Given the description of an element on the screen output the (x, y) to click on. 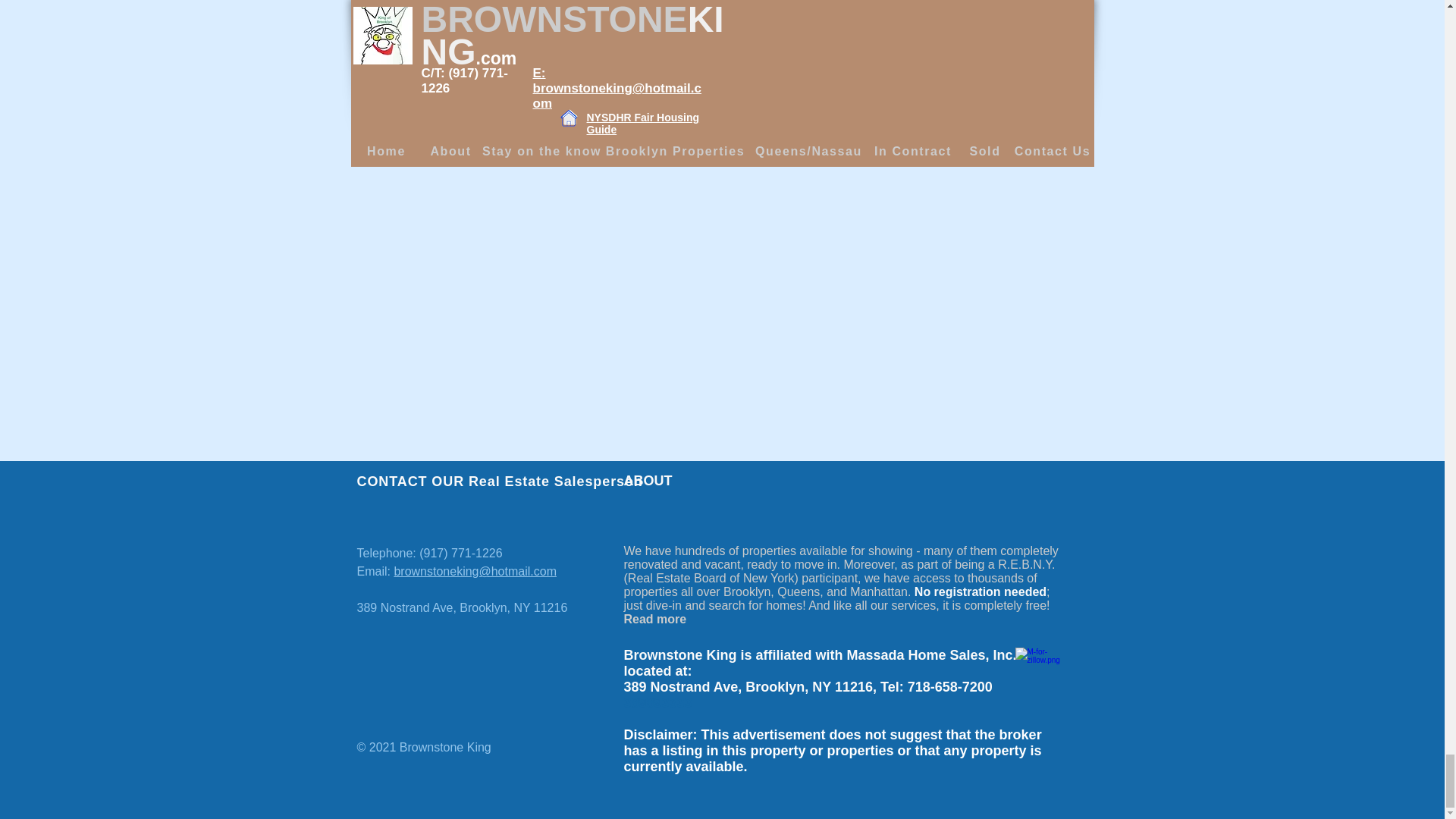
Read more (654, 618)
389 Nostrand Ave, Brooklyn, NY 11216 (461, 607)
